Given the description of an element on the screen output the (x, y) to click on. 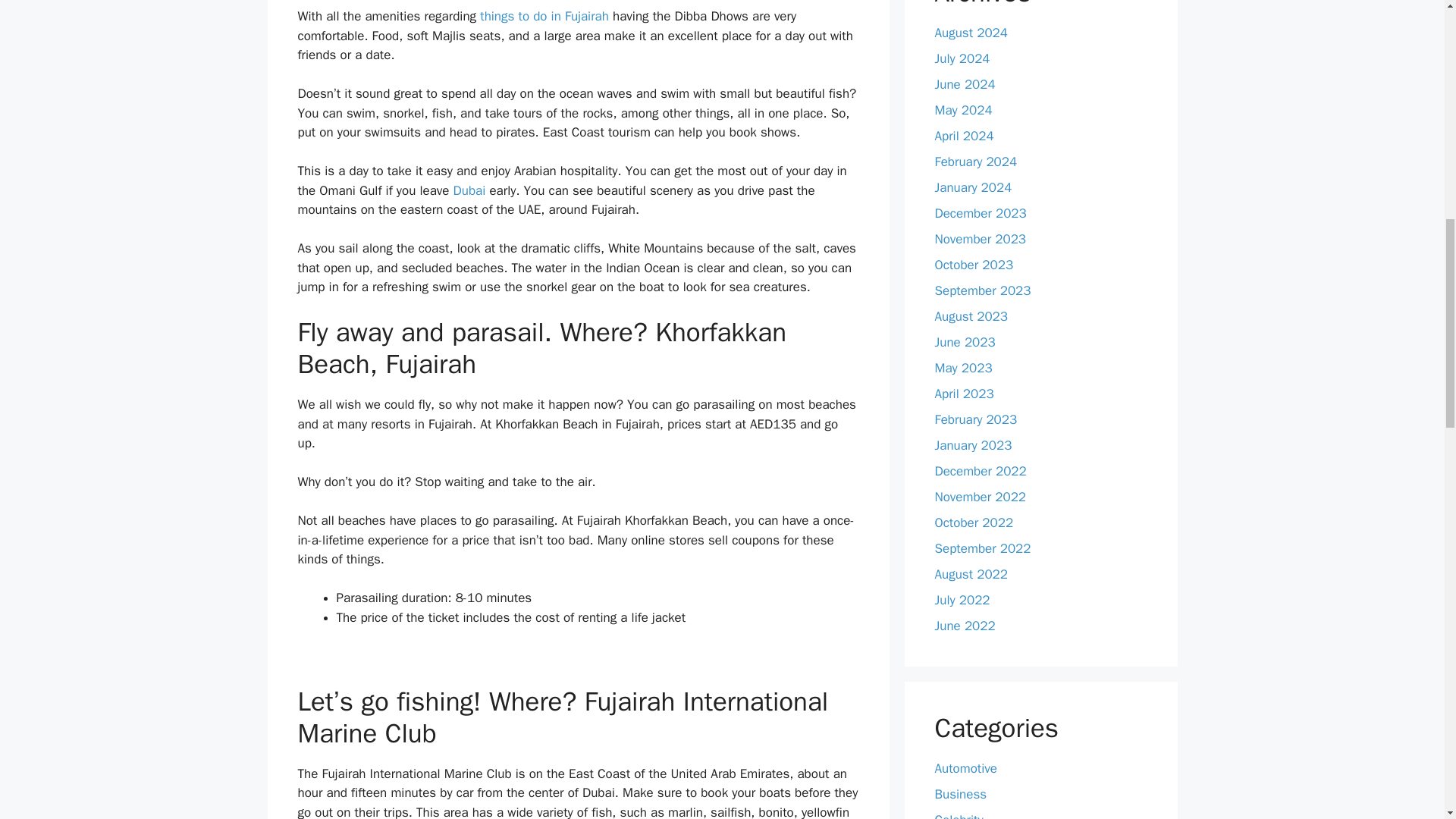
May 2024 (962, 109)
January 2024 (972, 187)
things to do in Fujairah (544, 16)
June 2024 (964, 84)
August 2024 (970, 32)
July 2024 (962, 58)
April 2024 (963, 135)
Dubai (469, 190)
February 2024 (975, 161)
